Given the description of an element on the screen output the (x, y) to click on. 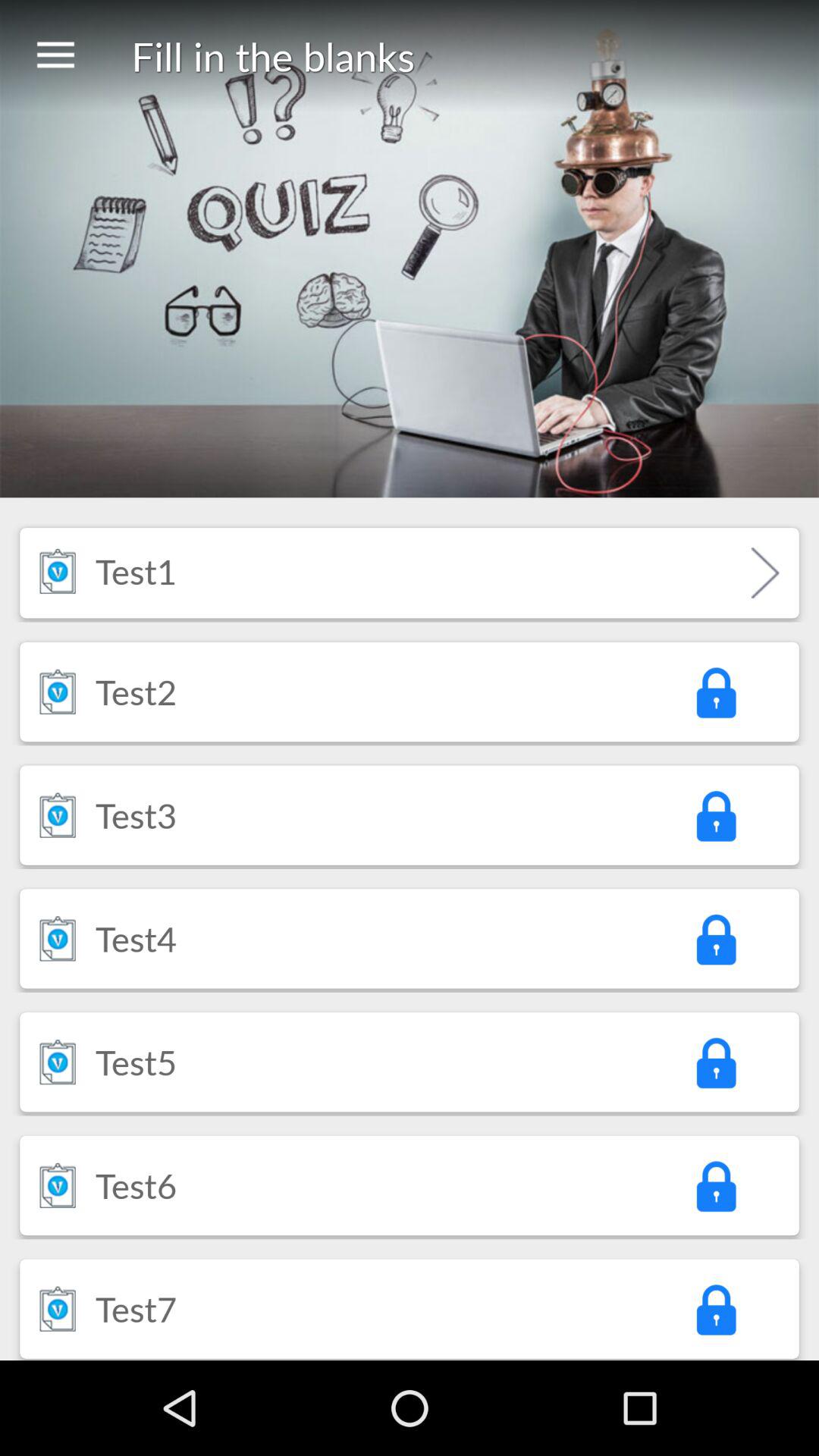
select the test4 (135, 938)
